Given the description of an element on the screen output the (x, y) to click on. 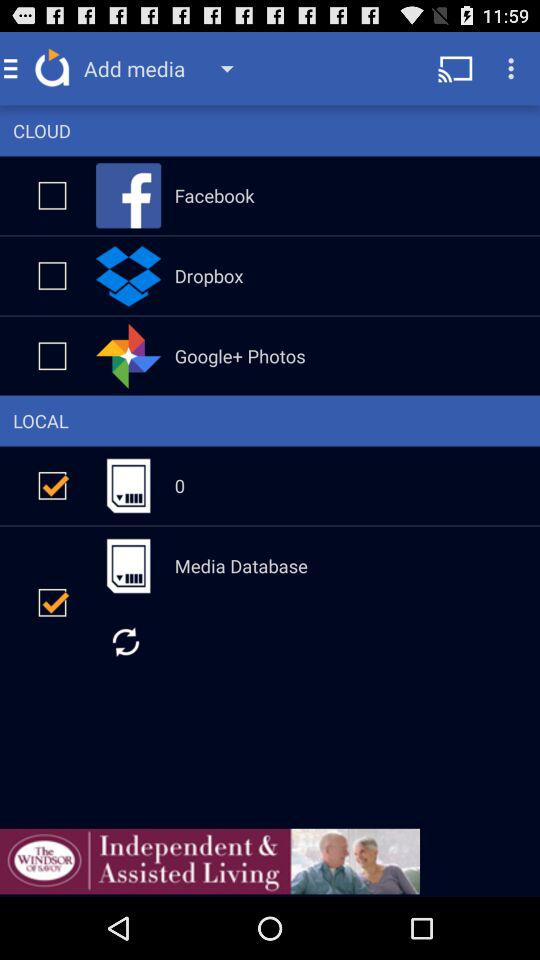
reload (125, 641)
